Given the description of an element on the screen output the (x, y) to click on. 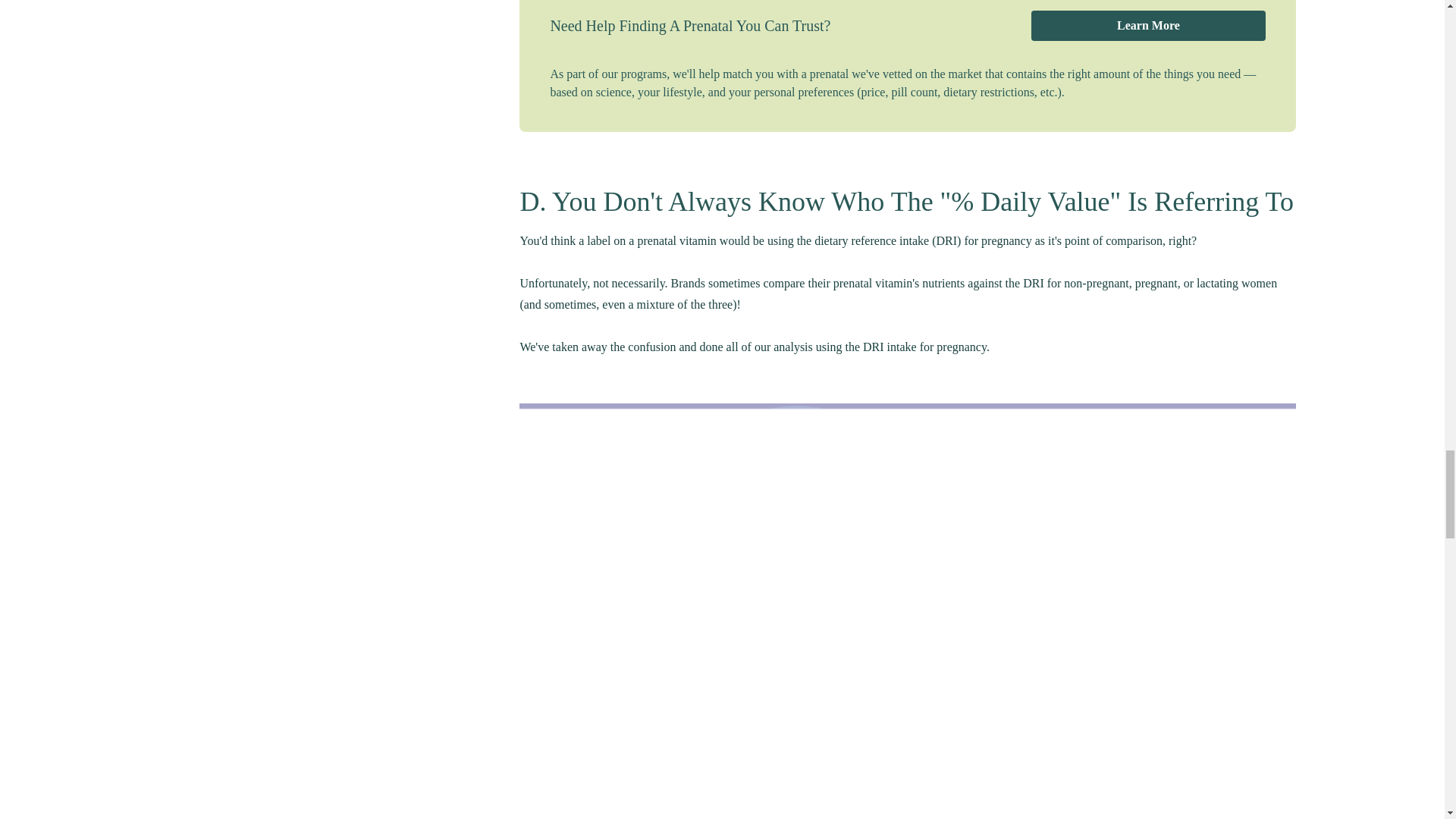
Learn More (1148, 25)
